Given the description of an element on the screen output the (x, y) to click on. 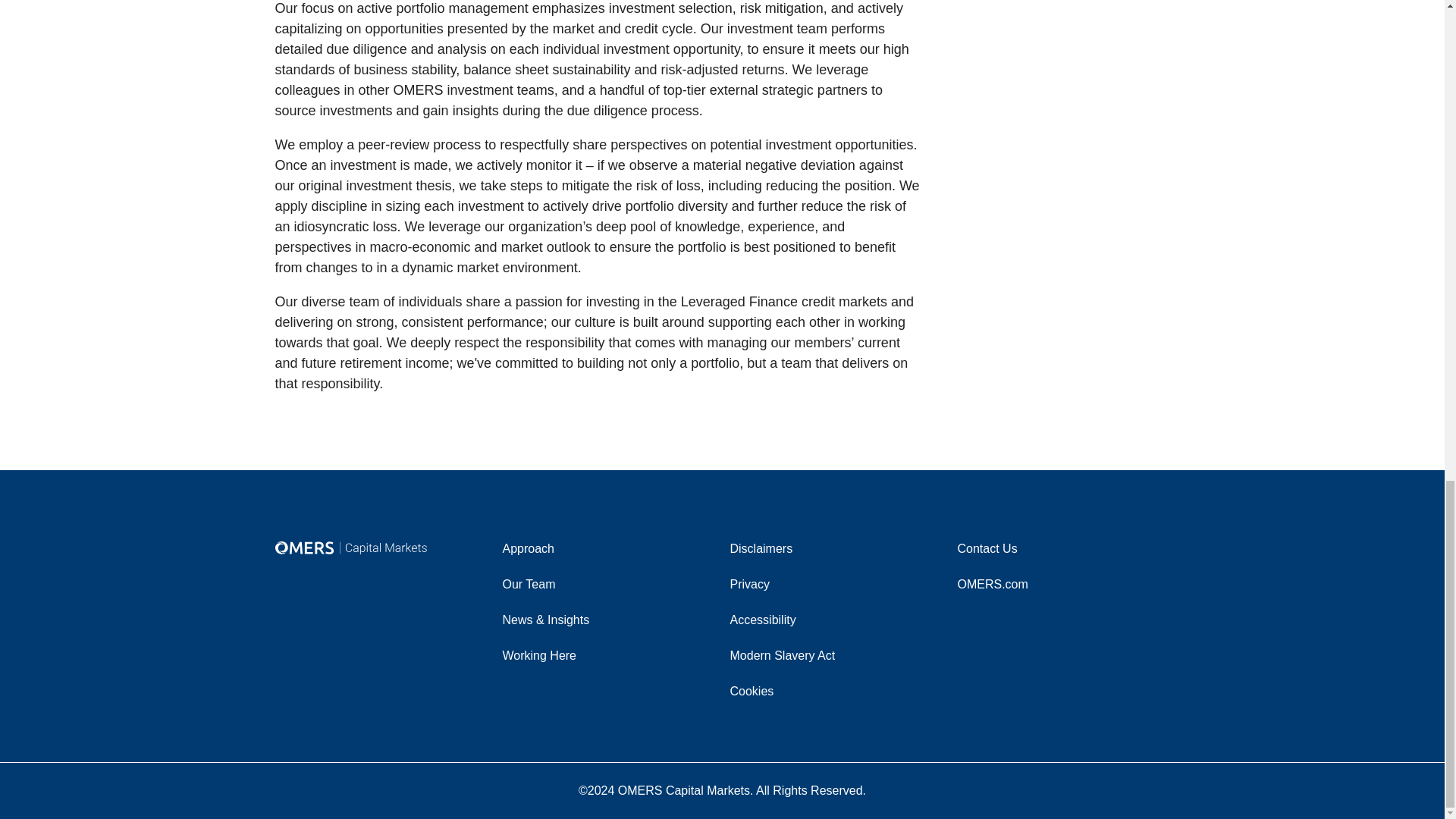
Privacy (835, 584)
Approach (608, 548)
Modern Slavery Act (835, 655)
Our Team (608, 584)
OMERS.com (1062, 584)
Accessibility (835, 619)
Contact Us (1062, 548)
Working Here (608, 655)
Cookies (835, 690)
Disclaimers (835, 548)
